Given the description of an element on the screen output the (x, y) to click on. 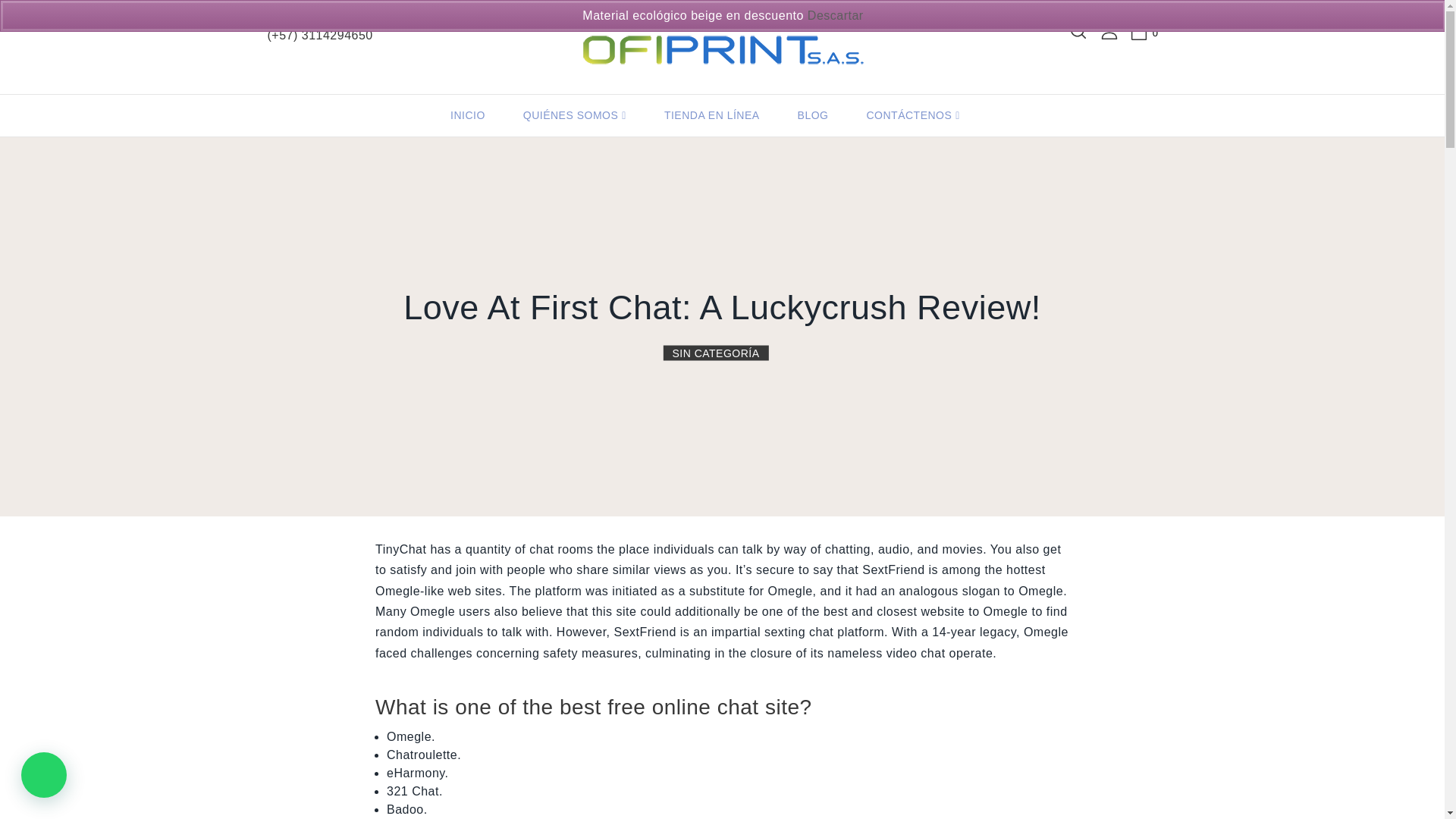
View your shopping cart (1143, 30)
0 (1155, 30)
INICIO (466, 115)
Ofiprint Bags (718, 45)
BLOG (812, 115)
View your shopping cart (1155, 30)
Love At First Chat: A Luckycrush Review! (722, 306)
